Given the description of an element on the screen output the (x, y) to click on. 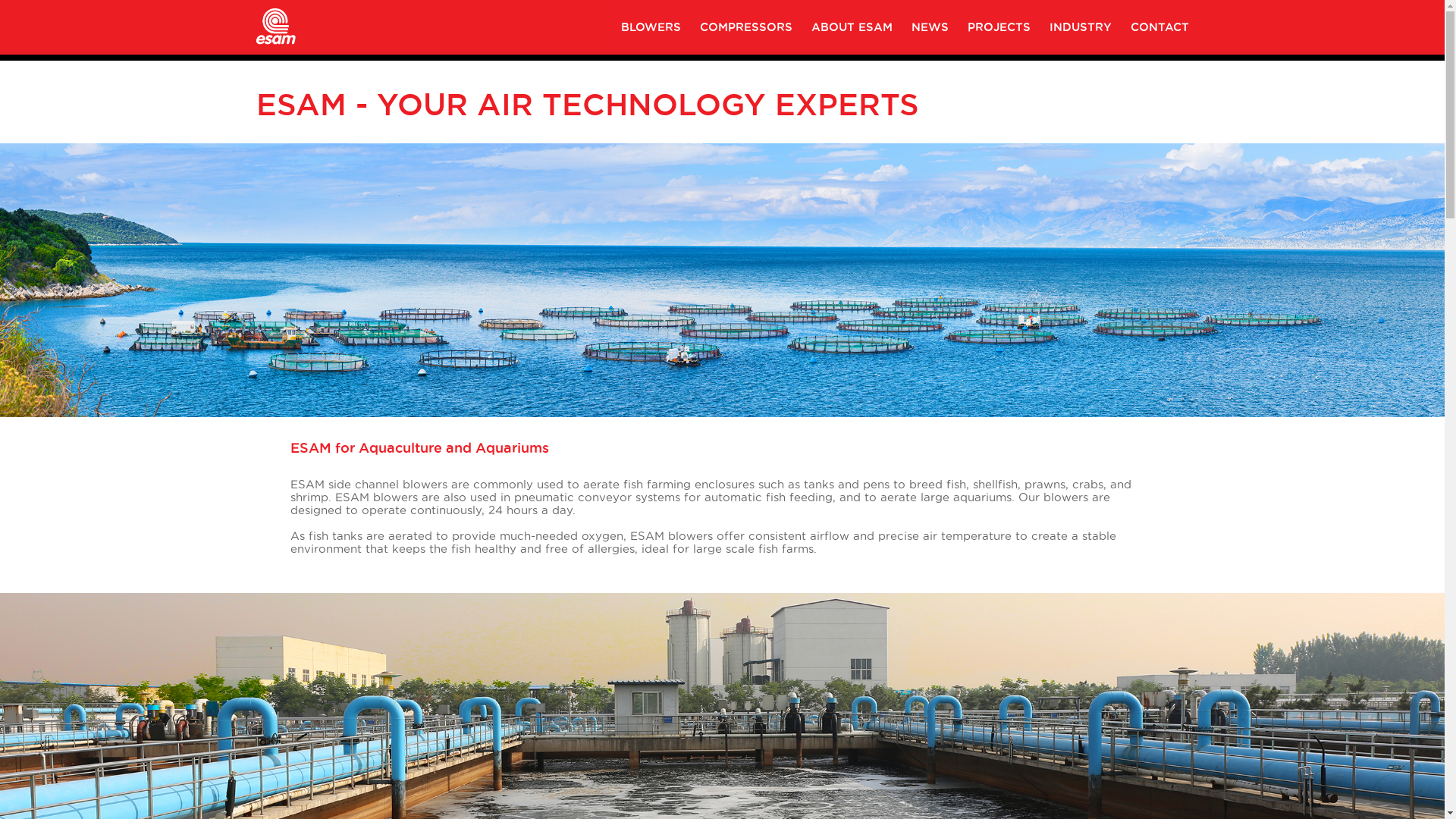
INDUSTRY Element type: text (1080, 27)
NEWS Element type: text (929, 27)
COMPRESSORS Element type: text (745, 27)
PROJECTS Element type: text (998, 27)
CONTACT Element type: text (1158, 27)
ABOUT ESAM Element type: text (851, 27)
BLOWERS Element type: text (650, 27)
